Given the description of an element on the screen output the (x, y) to click on. 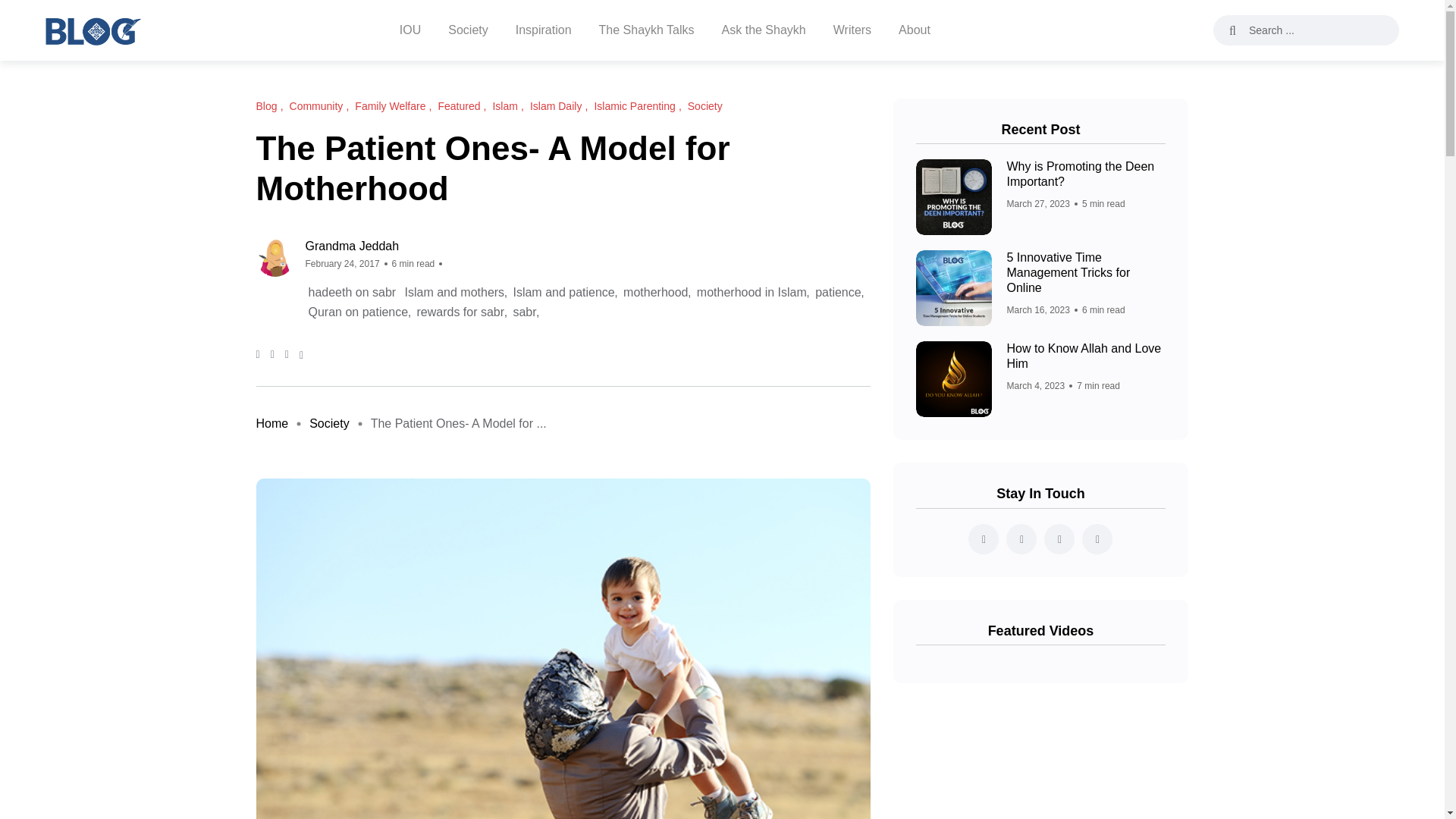
The Shaykh Talks (646, 30)
Inspiration (543, 30)
The Patient Ones- A Model for Motherhood (459, 422)
Home (272, 422)
IOU Blog (93, 30)
Ask the Shaykh (764, 30)
